Given the description of an element on the screen output the (x, y) to click on. 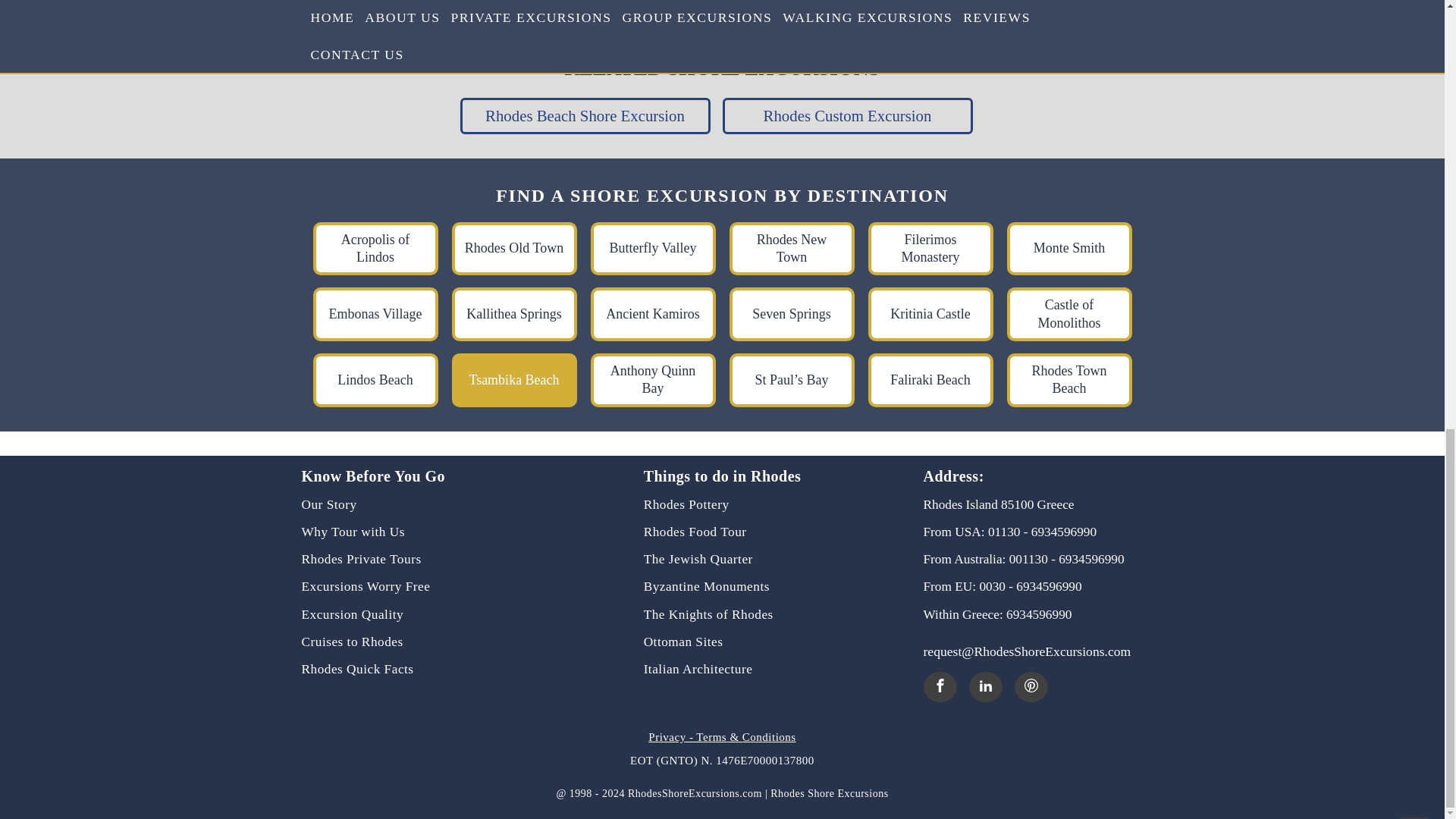
Rhodes Custom Excursion (847, 115)
pinterest2 (1031, 685)
Ancient Kamiros (651, 314)
Kritinia Castle (929, 314)
Seven Springs (791, 314)
Filerimos Monastery (929, 248)
facebook (940, 685)
Monte Smith (1069, 248)
Butterfly Valley (651, 248)
Rhodes Old Town (513, 248)
